Given the description of an element on the screen output the (x, y) to click on. 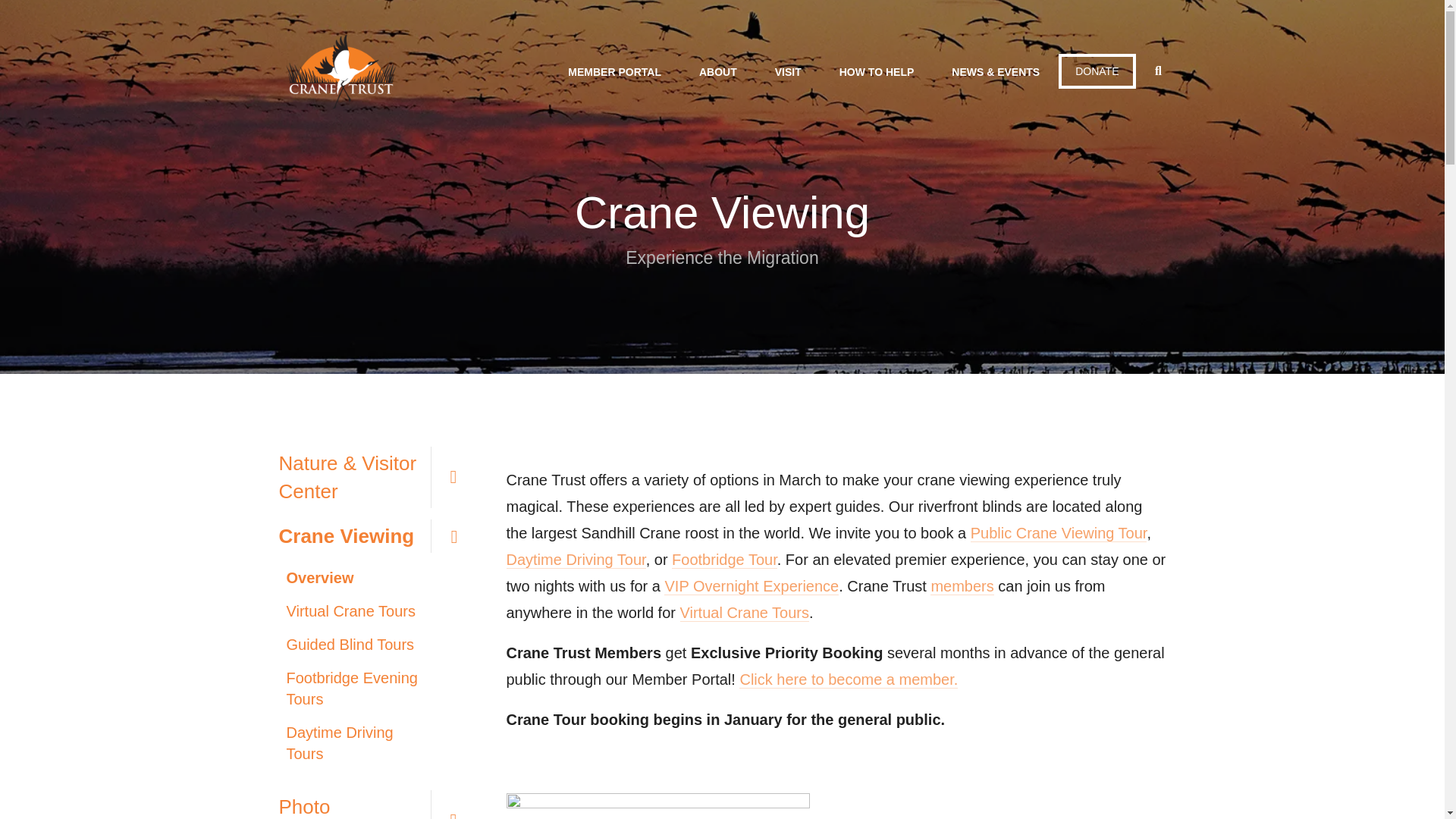
logo (339, 70)
